Given the description of an element on the screen output the (x, y) to click on. 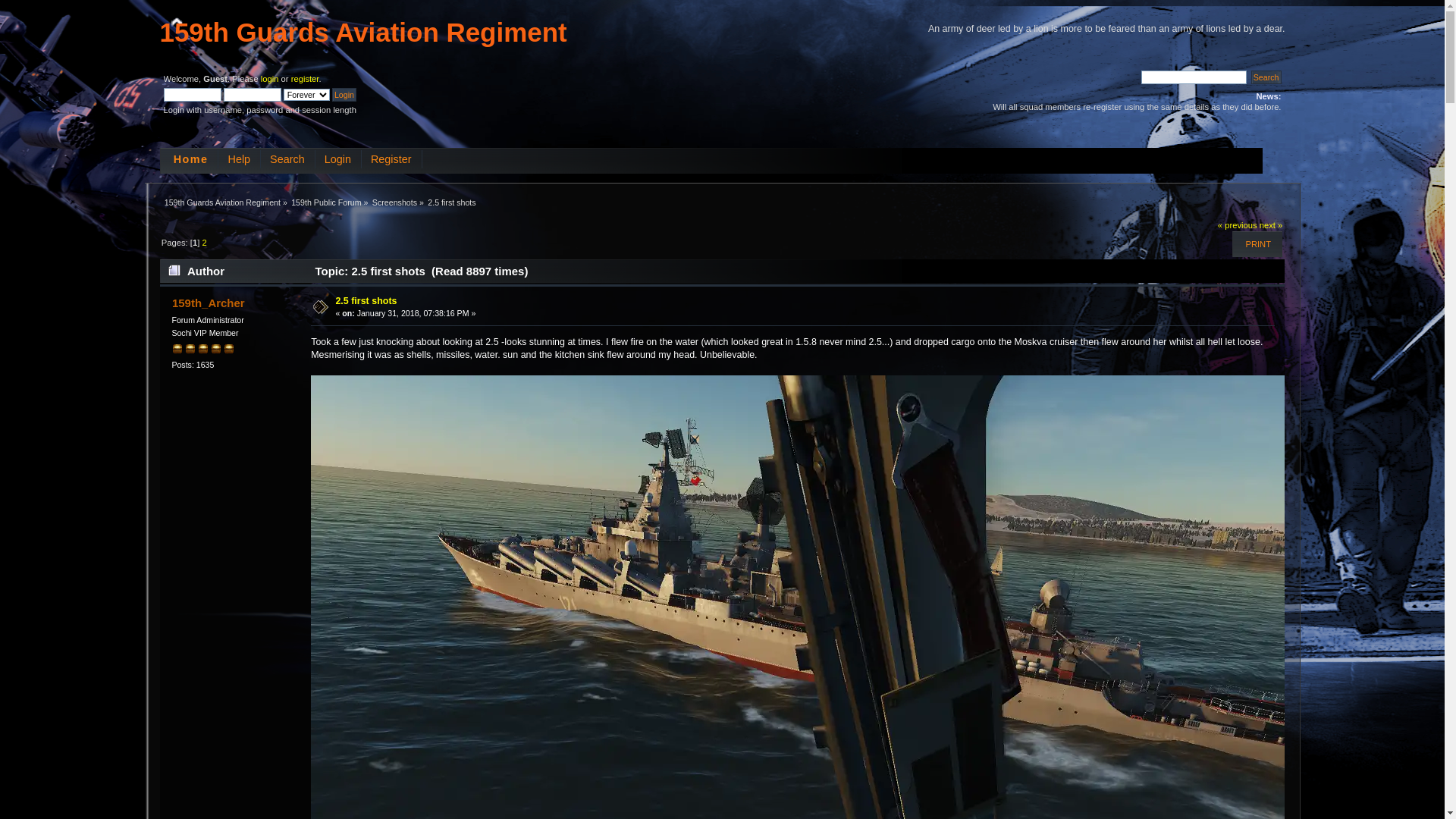
Screenshots Element type: text (394, 202)
2.5 first shots Element type: text (451, 202)
register Element type: text (305, 78)
159th Guards Aviation Regiment Element type: text (362, 32)
Search Element type: text (285, 159)
login Element type: text (269, 78)
PRINT Element type: text (1258, 243)
159th Guards Aviation Regiment Element type: text (222, 202)
Login Element type: text (336, 159)
Login Element type: text (344, 94)
2.5 first shots Element type: text (365, 300)
159th_Archer Element type: text (208, 302)
Home Element type: text (189, 159)
Shrink or expand the header. Element type: hover (176, 22)
2 Element type: text (203, 242)
Search Element type: text (1266, 77)
159th Public Forum Element type: text (325, 202)
Help Element type: text (237, 159)
Register Element type: text (389, 159)
